Given the description of an element on the screen output the (x, y) to click on. 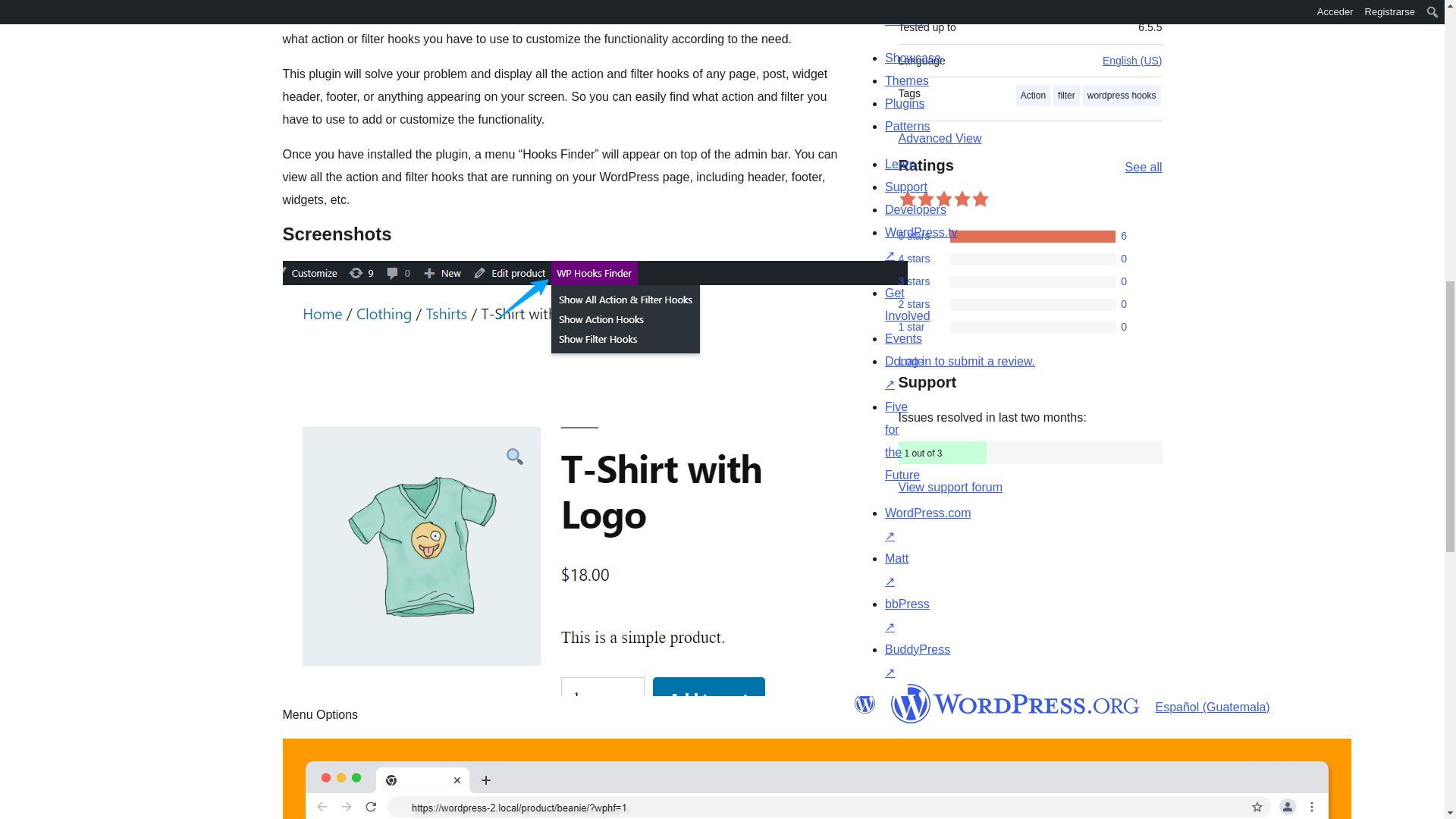
WordPress.org (1014, 703)
WordPress.org (864, 703)
Log in to WordPress.org (966, 360)
